Given the description of an element on the screen output the (x, y) to click on. 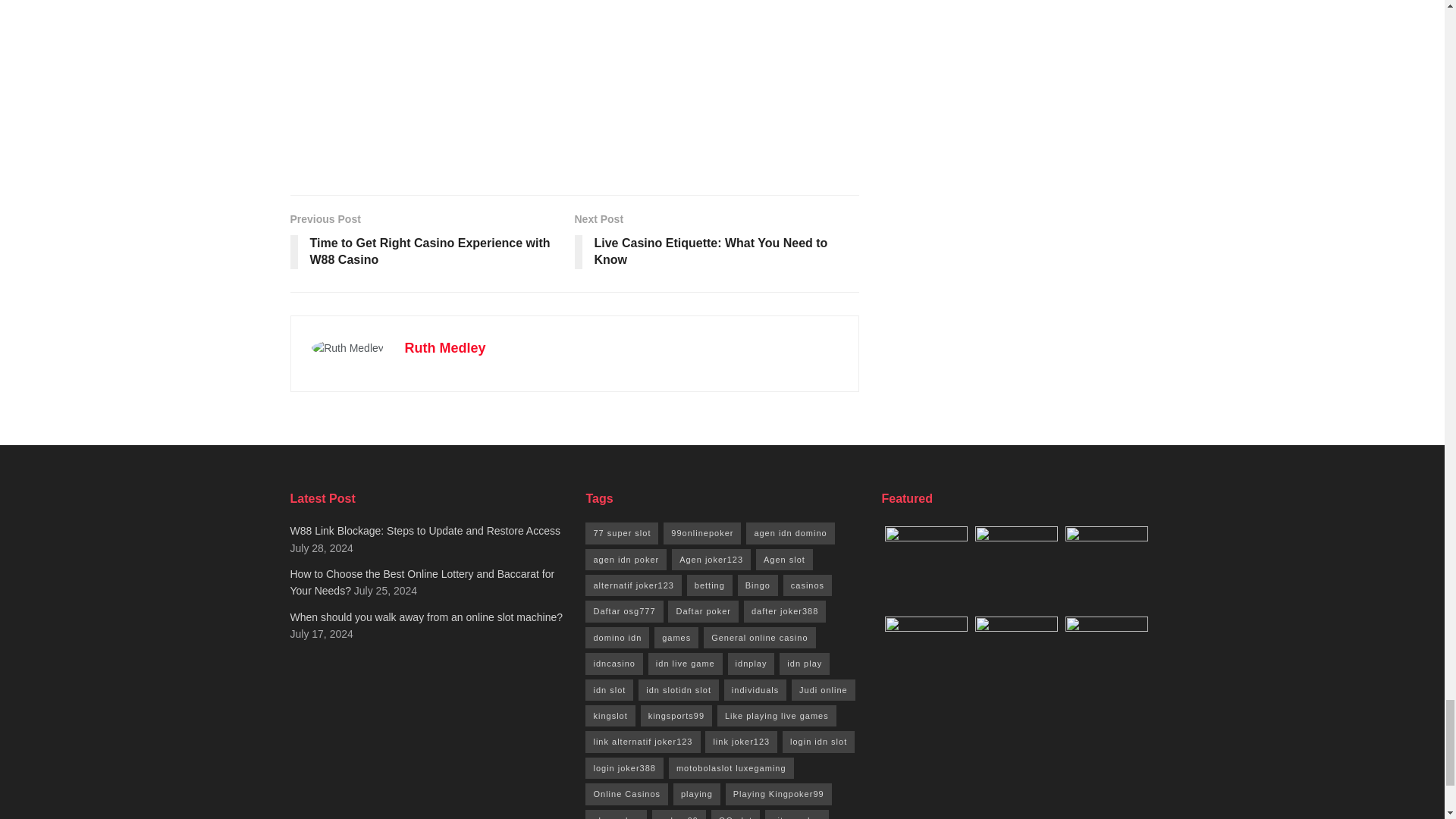
Ruth Medley (445, 347)
